Given the description of an element on the screen output the (x, y) to click on. 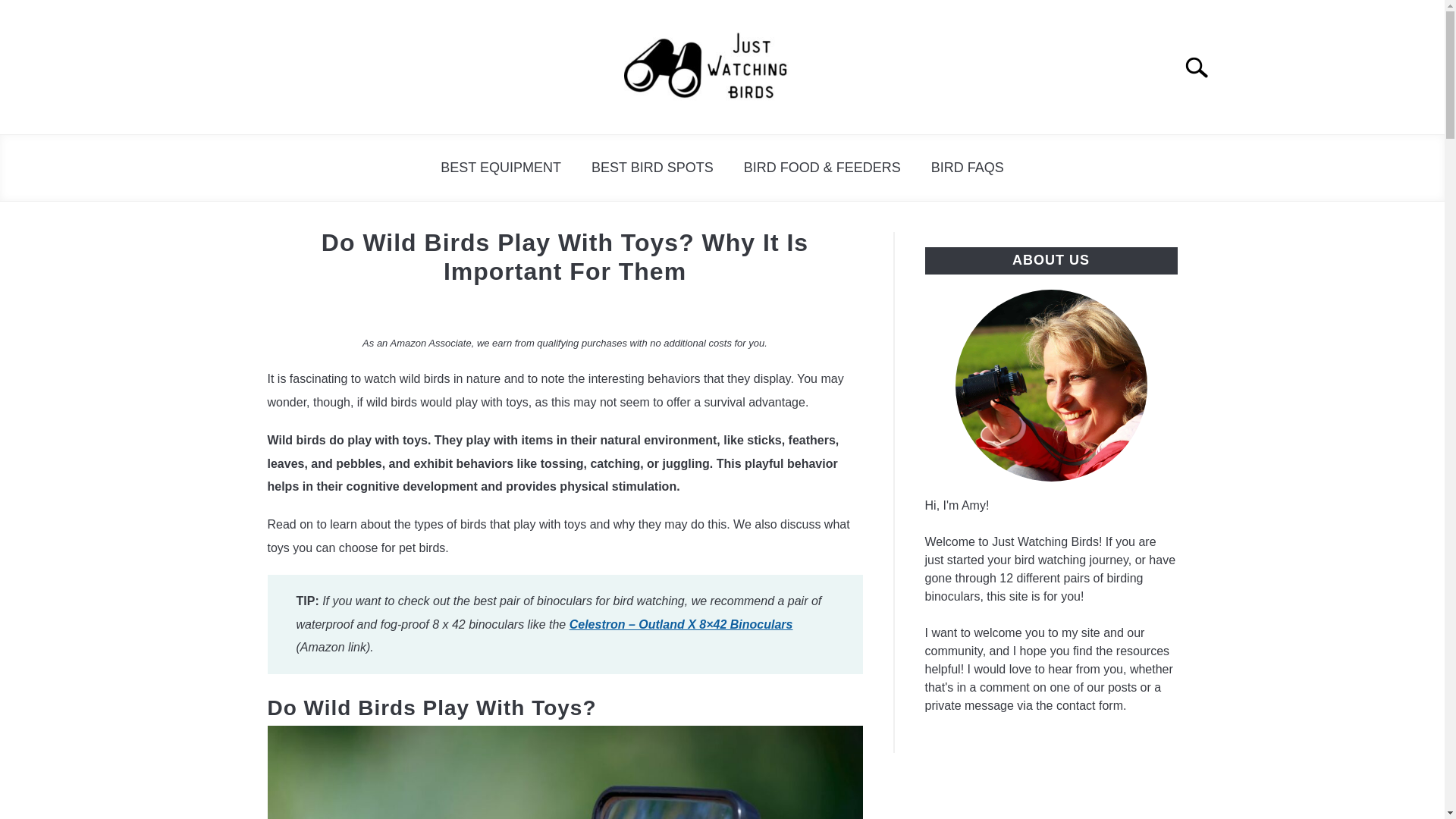
BEST BIRD SPOTS (652, 167)
BIRD FAQS (967, 167)
BEST EQUIPMENT (500, 167)
Search (1203, 67)
